Given the description of an element on the screen output the (x, y) to click on. 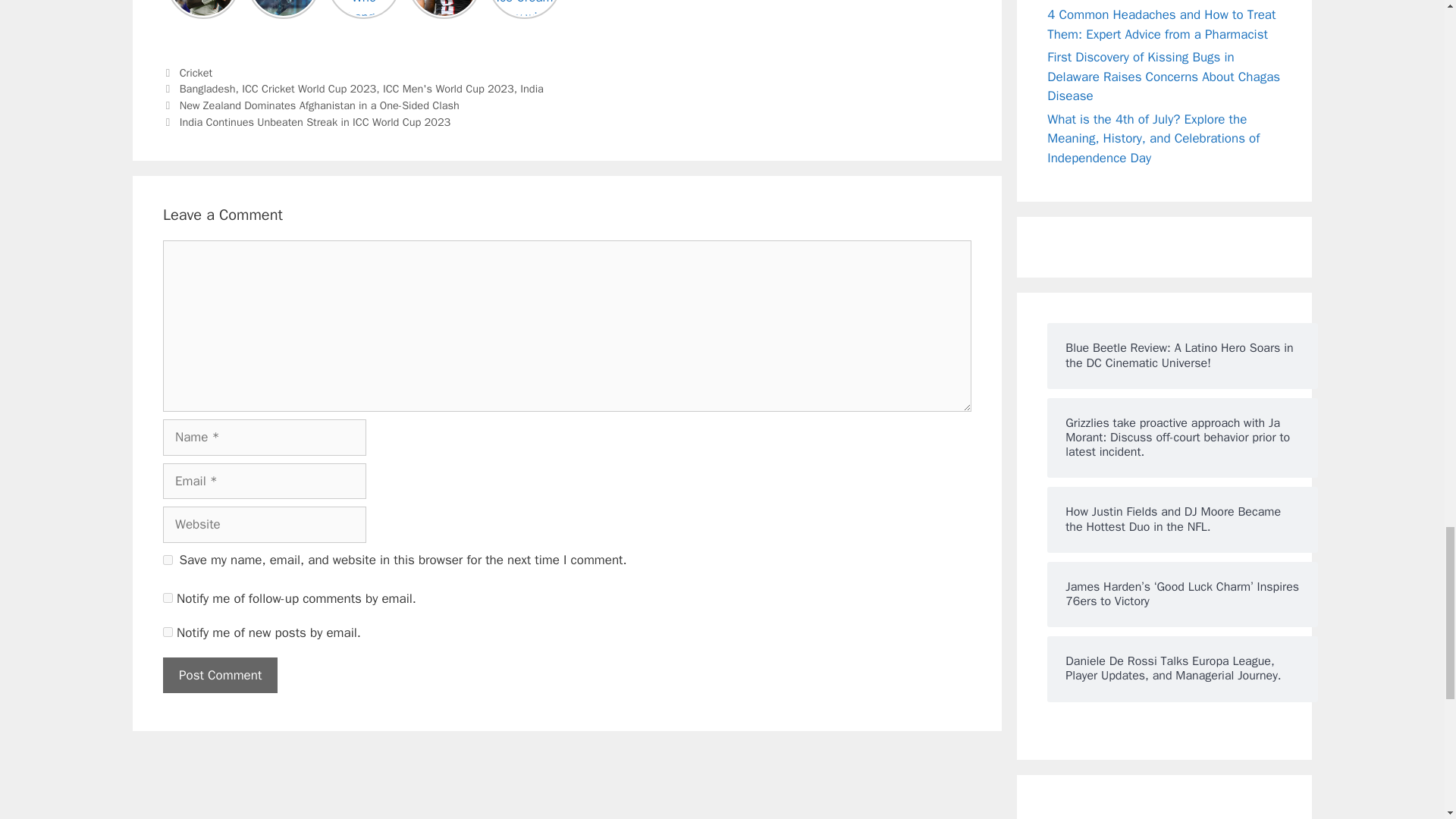
Bangladesh (207, 88)
subscribe (168, 597)
Post Comment (220, 675)
Cricket (195, 72)
yes (168, 560)
ICC Cricket World Cup 2023 (308, 88)
subscribe (168, 632)
New Zealand Dominates Afghanistan in a One-Sided Clash (319, 105)
India Continues Unbeaten Streak in ICC World Cup 2023 (315, 121)
ICC Men's World Cup 2023 (447, 88)
India (531, 88)
